Given the description of an element on the screen output the (x, y) to click on. 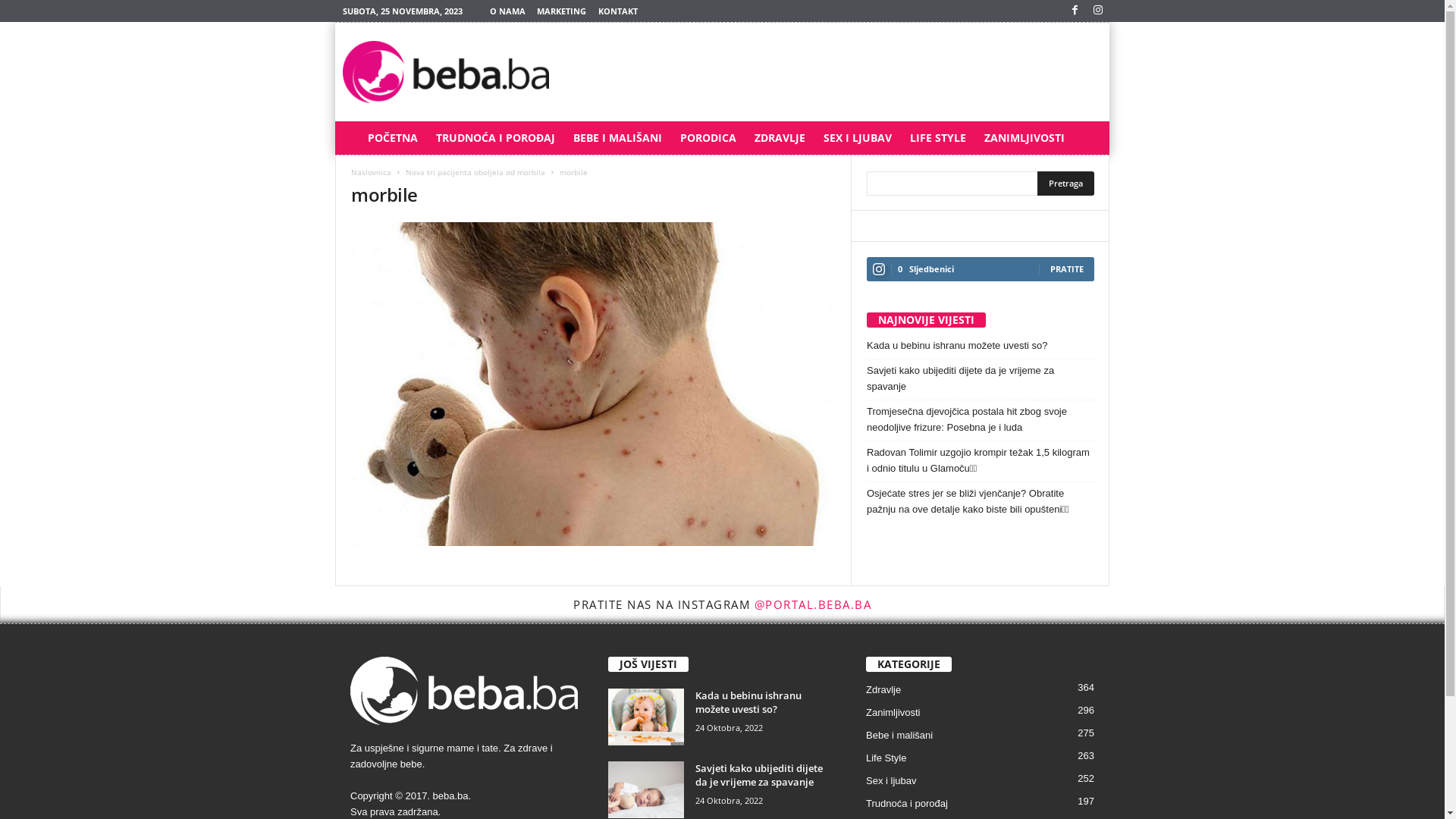
ZANIMLJIVOSTI Element type: text (1024, 137)
Life Style
263 Element type: text (886, 757)
O NAMA Element type: text (507, 10)
SEX I LJUBAV Element type: text (857, 137)
Facebook Element type: hover (1074, 10)
PRATITE Element type: text (1066, 268)
Nova tri pacijenta oboljela od morbila Element type: text (475, 171)
Instagram Element type: hover (1097, 10)
Savjeti kako ubijediti dijete da je vrijeme za spavanje Element type: text (758, 774)
morbile Element type: hover (593, 384)
Sex i ljubav
252 Element type: text (891, 780)
@PORTAL.BEBA.BA Element type: text (812, 603)
MARKETING Element type: text (561, 10)
BEBA.BA Element type: text (445, 71)
PORODICA Element type: text (708, 137)
Savjeti kako ubijediti dijete da je vrijeme za spavanje Element type: hover (646, 789)
Pretraga Element type: text (1065, 183)
KONTAKT Element type: text (617, 10)
LIFE STYLE Element type: text (937, 137)
Naslovnica Element type: text (371, 171)
Zdravlje
364 Element type: text (883, 689)
Savjeti kako ubijediti dijete da je vrijeme za spavanje Element type: text (980, 378)
Zanimljivosti
296 Element type: text (893, 712)
ZDRAVLJE Element type: text (779, 137)
